Given the description of an element on the screen output the (x, y) to click on. 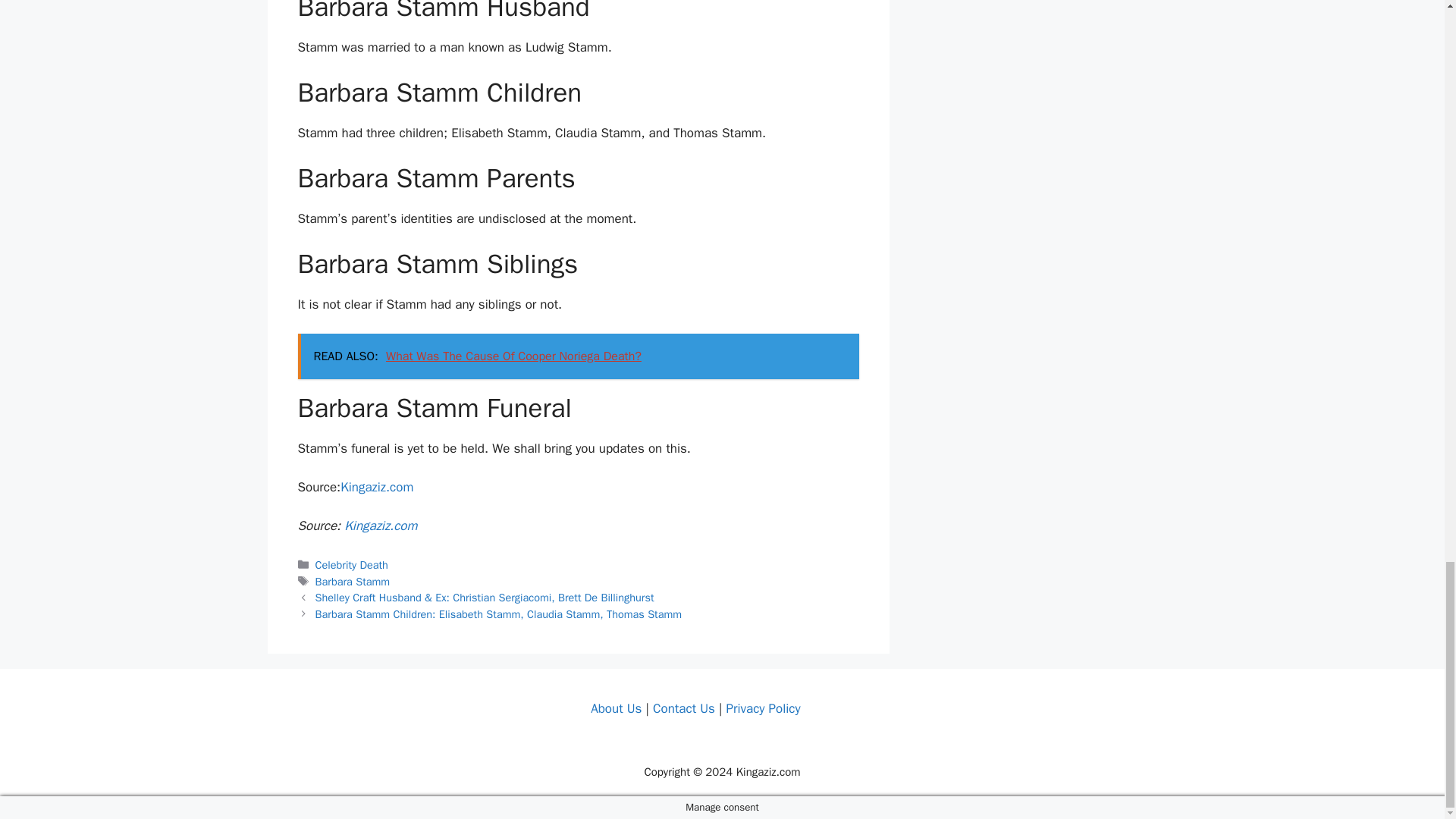
READ ALSO:  What Was The Cause Of Cooper Noriega Death? (578, 356)
Contact Us (683, 708)
Kingaziz.com (376, 487)
Kingaziz.com (379, 524)
About Us (616, 708)
Celebrity Death (351, 564)
Barbara Stamm (352, 581)
Privacy Policy (762, 708)
